Given the description of an element on the screen output the (x, y) to click on. 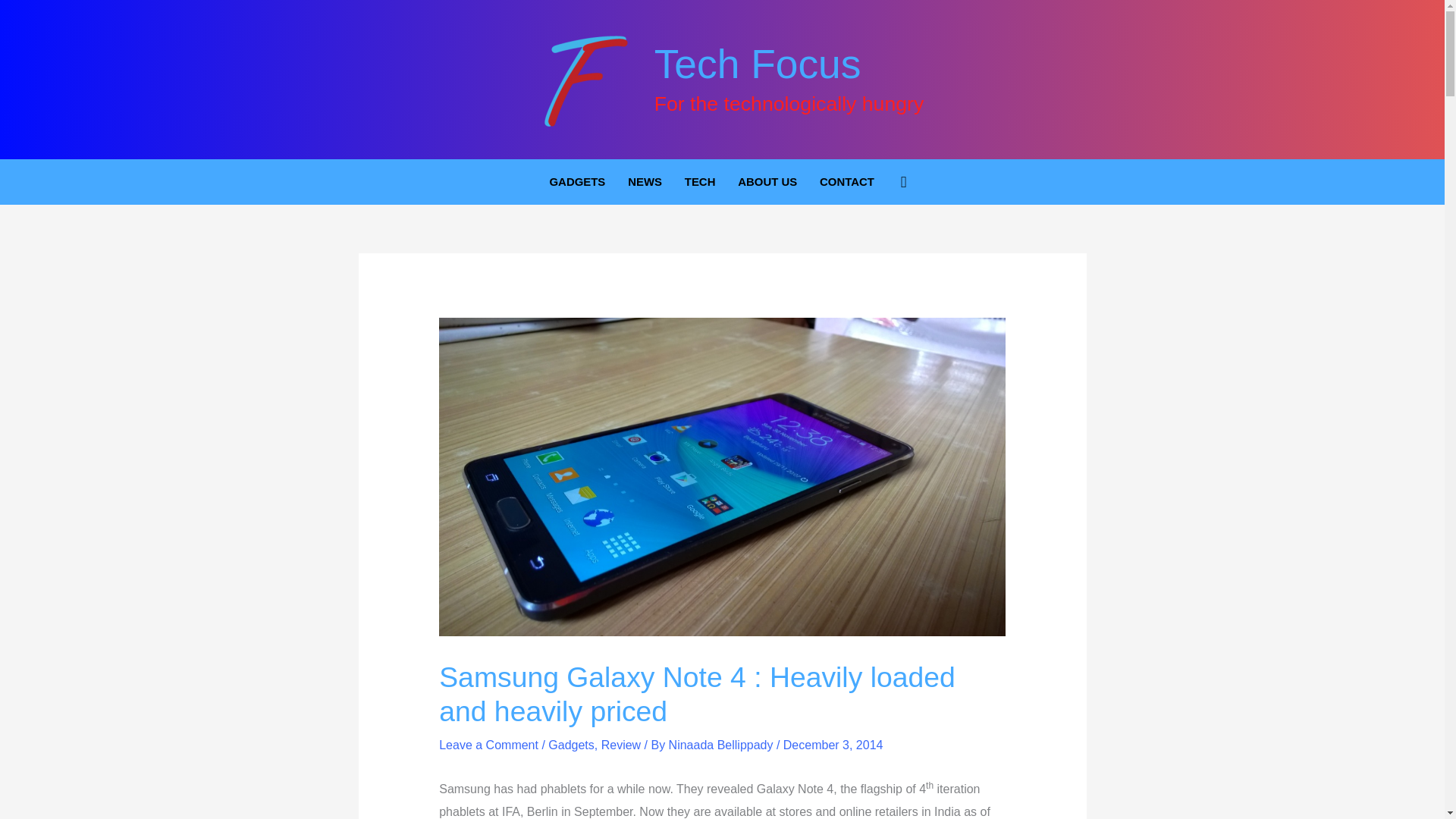
Ninaada Bellippady (722, 744)
TECH (699, 181)
ABOUT US (767, 181)
View all posts by Ninaada Bellippady (722, 744)
Tech Focus (757, 63)
CONTACT (846, 181)
GADGETS (577, 181)
Review (620, 744)
Leave a Comment (488, 744)
Gadgets (571, 744)
Search (904, 181)
NEWS (643, 181)
